Given the description of an element on the screen output the (x, y) to click on. 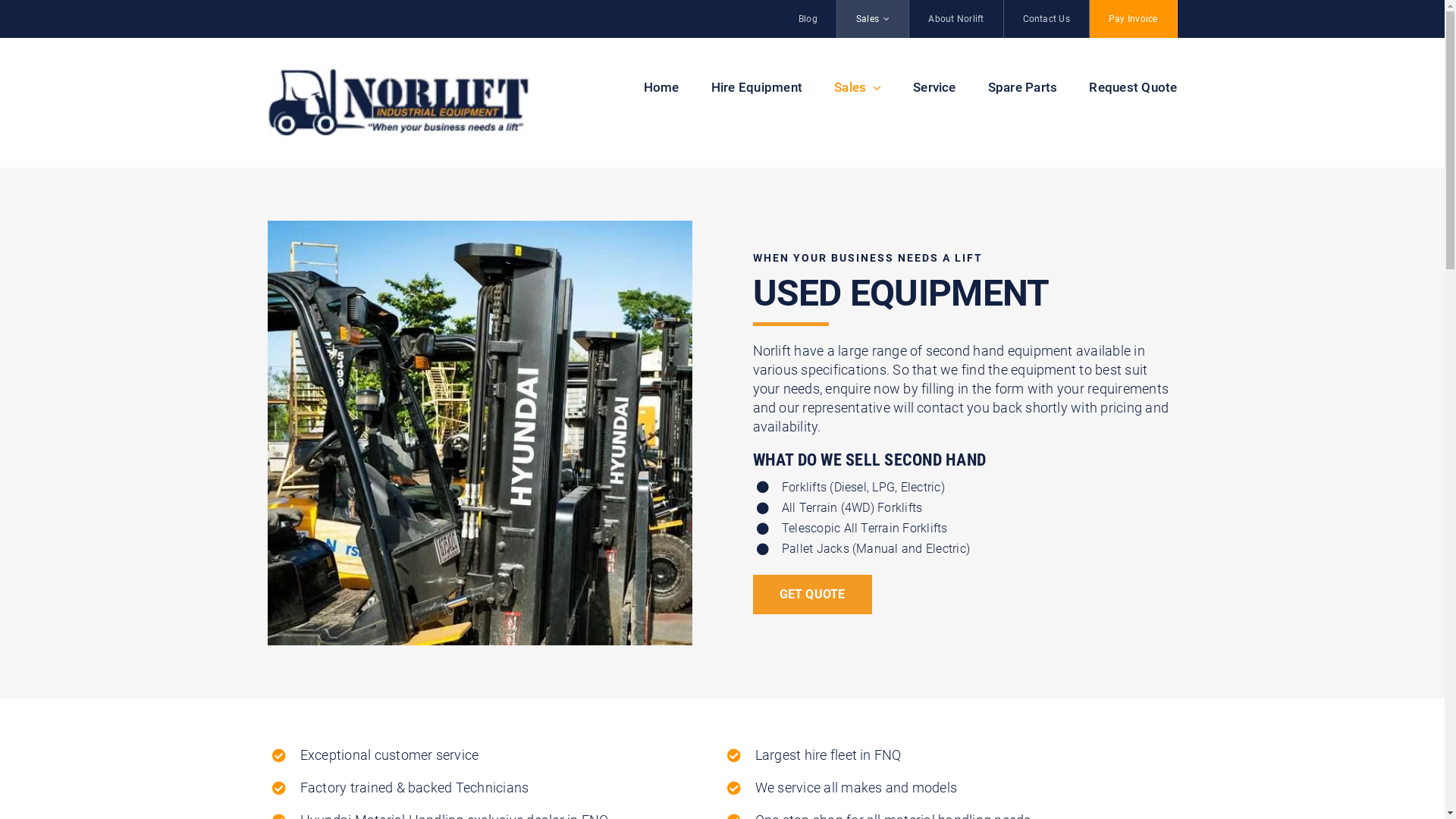
Service Element type: text (934, 87)
used-page Element type: hover (478, 432)
Request Quote Element type: text (1132, 87)
Sales Element type: text (857, 87)
Pay Invoice Element type: text (1133, 18)
Blog Element type: text (808, 18)
Contact Us Element type: text (1046, 18)
Sales Element type: text (873, 18)
Hire Equipment Element type: text (756, 87)
About Norlift Element type: text (956, 18)
GET QUOTE Element type: text (811, 594)
Spare Parts Element type: text (1022, 87)
Home Element type: text (661, 87)
